Given the description of an element on the screen output the (x, y) to click on. 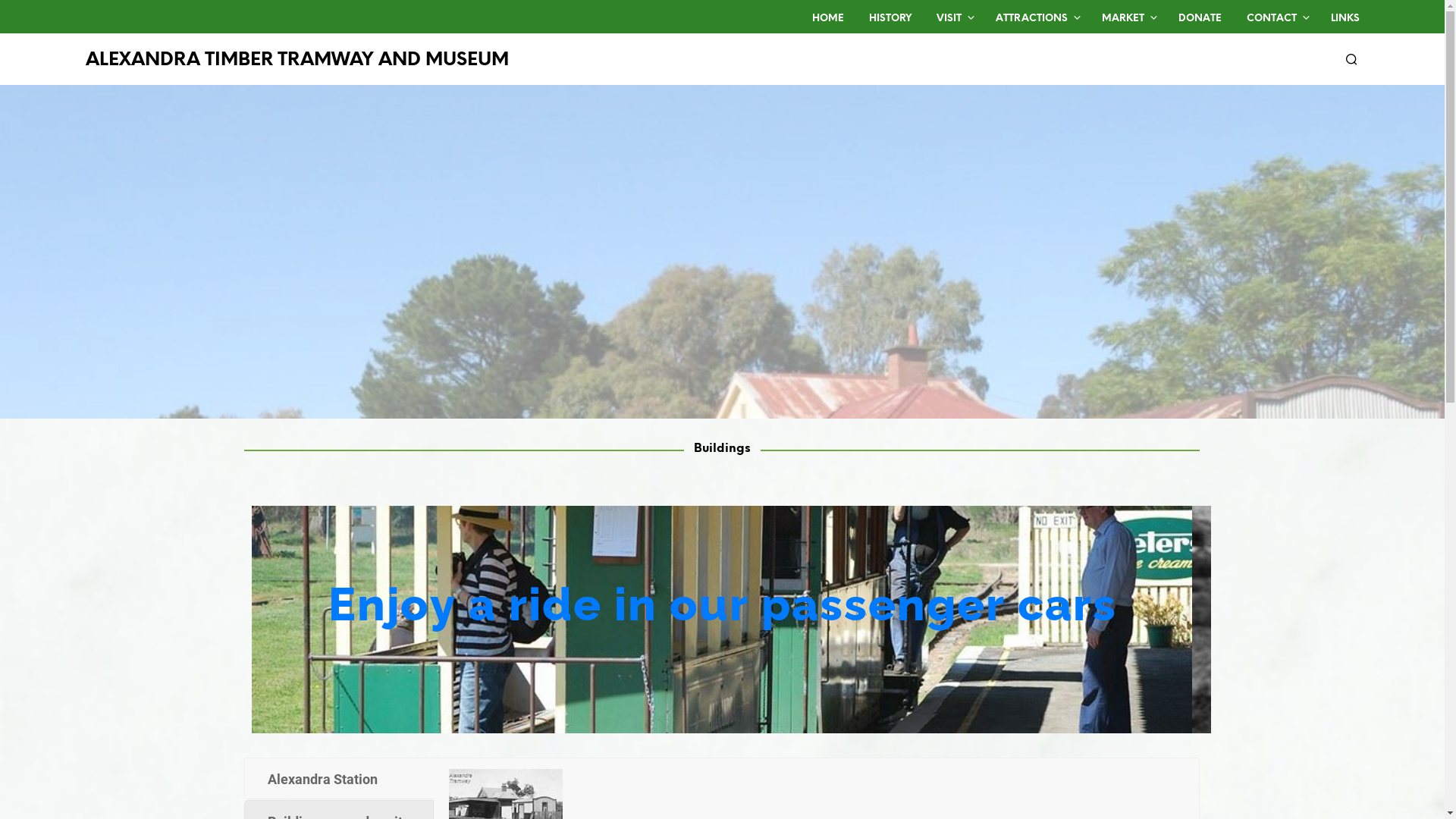
HOME Element type: text (827, 18)
ALEXANDRA TIMBER TRAMWAY AND MUSEUM Element type: text (296, 60)
CONTACT Element type: text (1270, 18)
MARKET Element type: text (1122, 18)
ATTRACTIONS Element type: text (1031, 18)
DONATE Element type: text (1199, 18)
Alexandra Station Element type: text (338, 778)
LINKS Element type: text (1345, 18)
HISTORY Element type: text (889, 18)
VISIT Element type: text (948, 18)
